Given the description of an element on the screen output the (x, y) to click on. 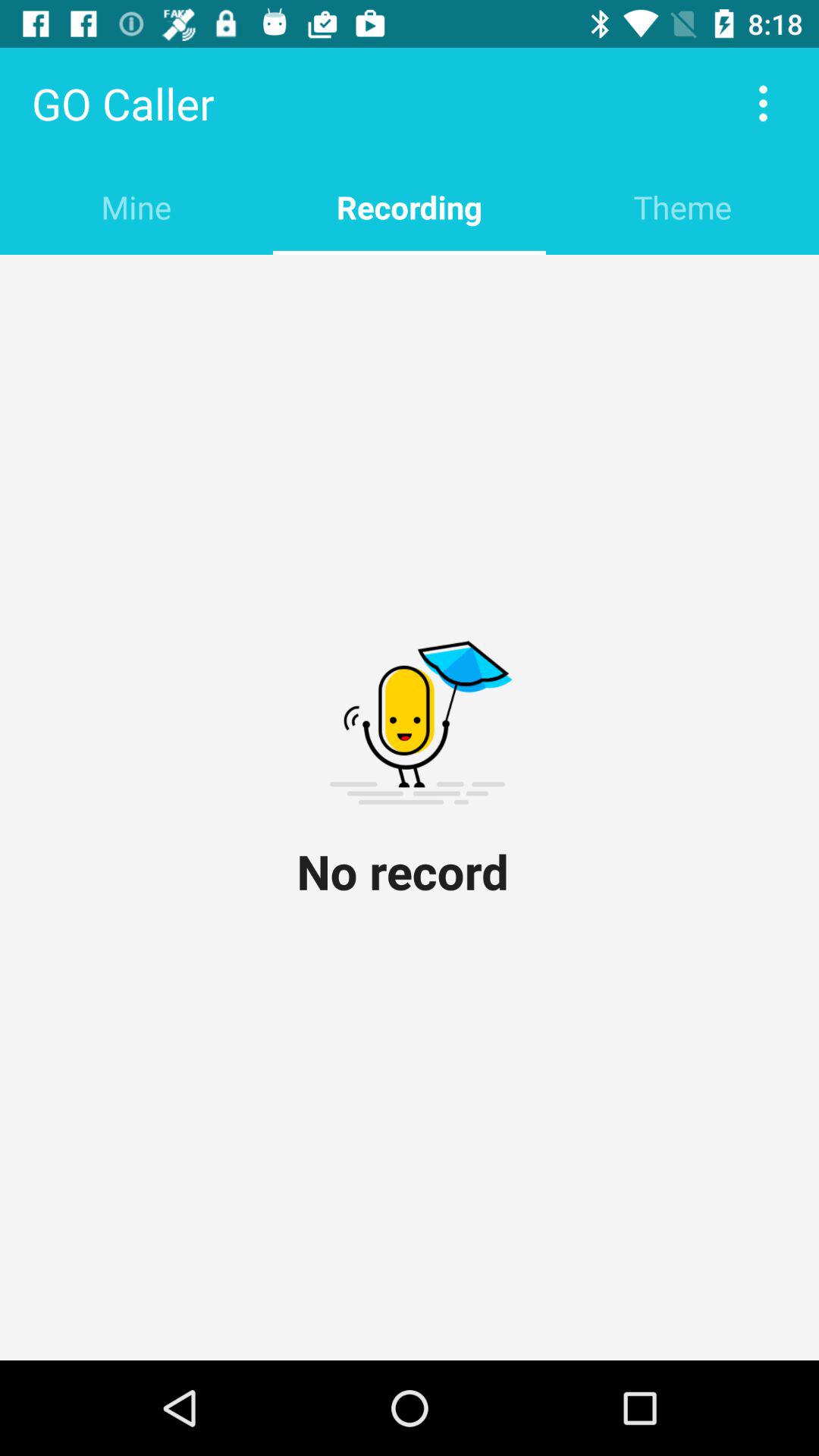
launch theme (682, 206)
